Given the description of an element on the screen output the (x, y) to click on. 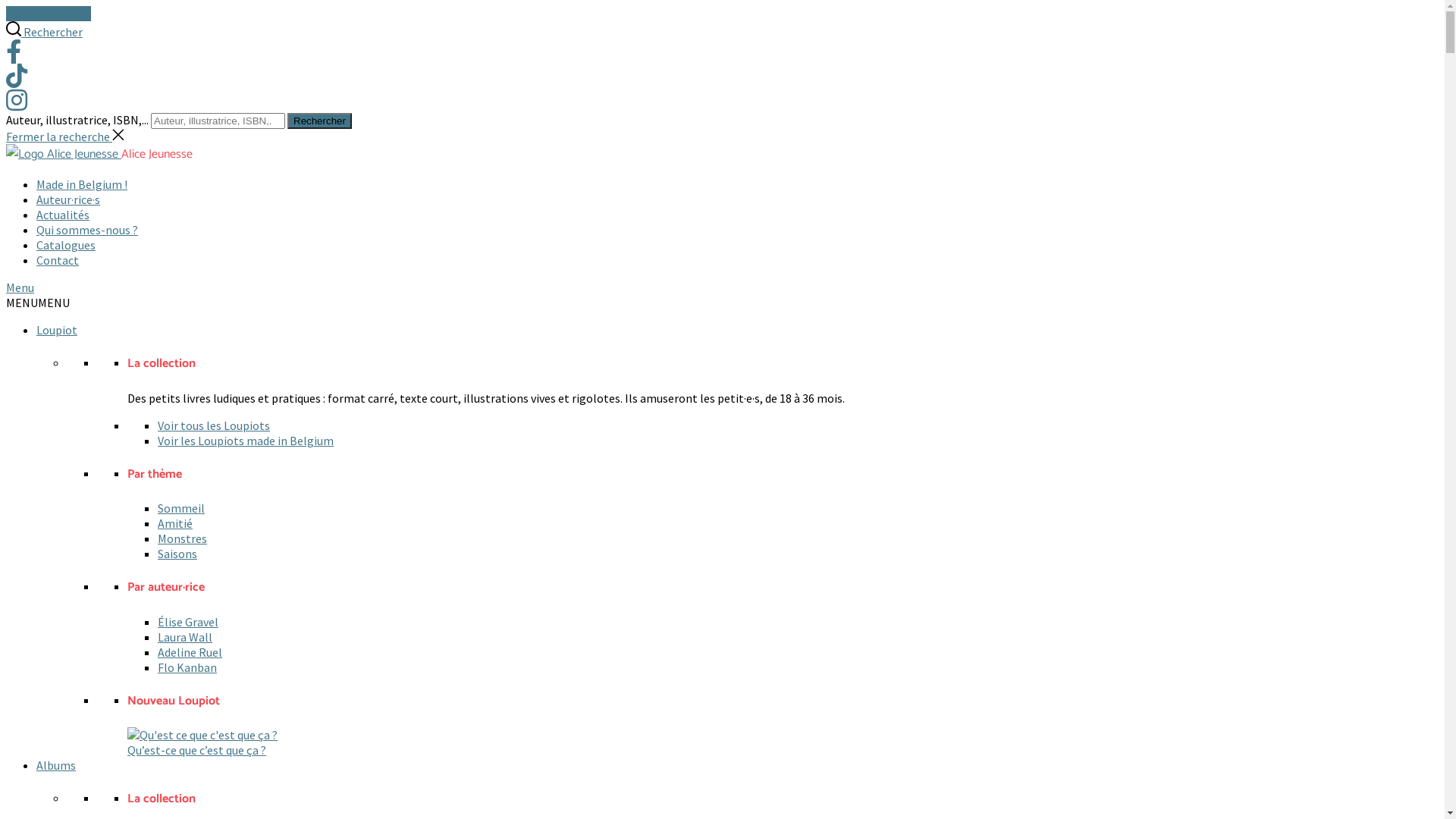
Flo Kanban Element type: text (186, 666)
Albums Element type: text (55, 764)
Catalogues Element type: text (65, 244)
Sommeil Element type: text (180, 507)
Fermer la recherche Element type: text (65, 136)
Contact Element type: text (57, 259)
Voir tous les Loupiots Element type: text (213, 425)
Aller au contenu Element type: text (48, 13)
Loupiot Element type: text (56, 329)
Adeline Ruel Element type: text (189, 651)
Made in Belgium ! Element type: text (81, 183)
Voir les Loupiots made in Belgium Element type: text (245, 440)
Saisons Element type: text (177, 553)
Rechercher Element type: text (44, 31)
Monstres Element type: text (182, 538)
Menu Element type: text (722, 286)
Qui sommes-nous ? Element type: text (87, 229)
Rechercher Element type: text (319, 120)
Laura Wall Element type: text (184, 636)
